Given the description of an element on the screen output the (x, y) to click on. 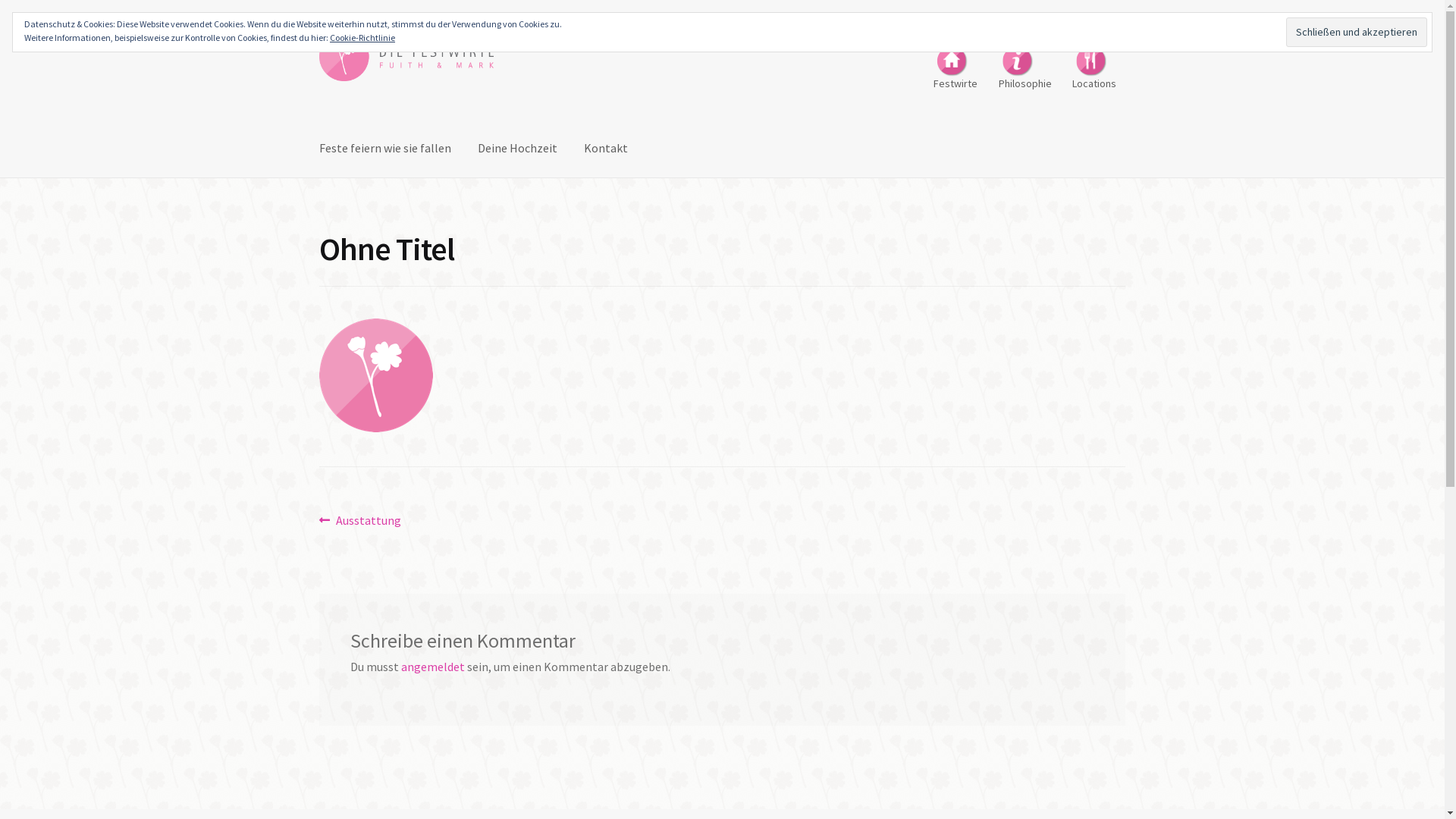
Festwirte Element type: text (955, 65)
Kontakt Element type: text (605, 148)
Deine Hochzeit Element type: text (517, 148)
Cookie-Richtlinie Element type: text (362, 37)
Locations Element type: text (1094, 65)
Zur Navigation springen Element type: text (318, 31)
angemeldet Element type: text (432, 666)
Philosophie Element type: text (1024, 65)
Feste feiern wie sie fallen Element type: text (385, 148)
Vorheriger Beitrag:
Ausstattung Element type: text (360, 520)
